Given the description of an element on the screen output the (x, y) to click on. 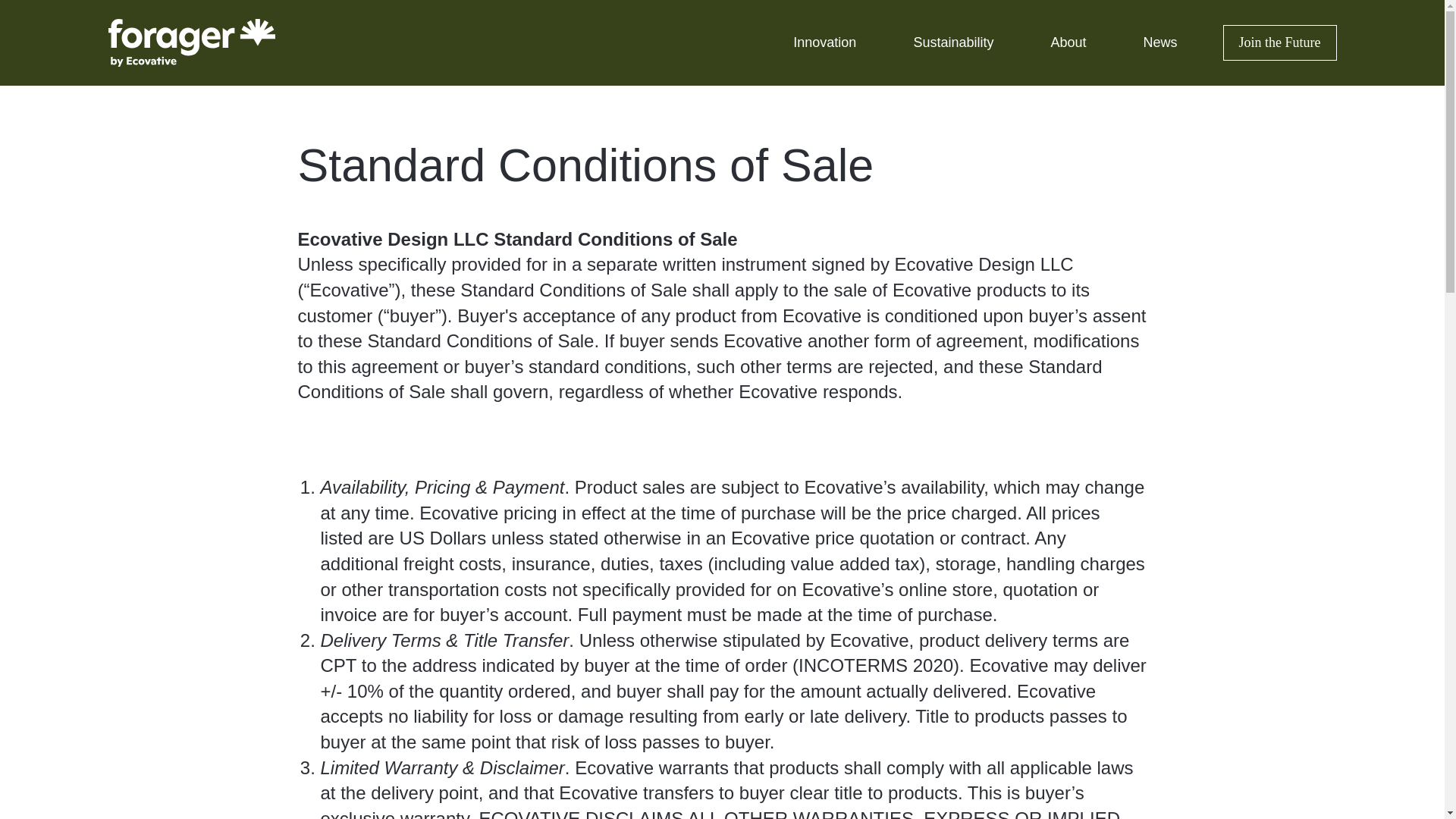
Join the Future (1279, 43)
About (1068, 42)
Innovation (824, 42)
News (1159, 42)
Sustainability (952, 42)
